Given the description of an element on the screen output the (x, y) to click on. 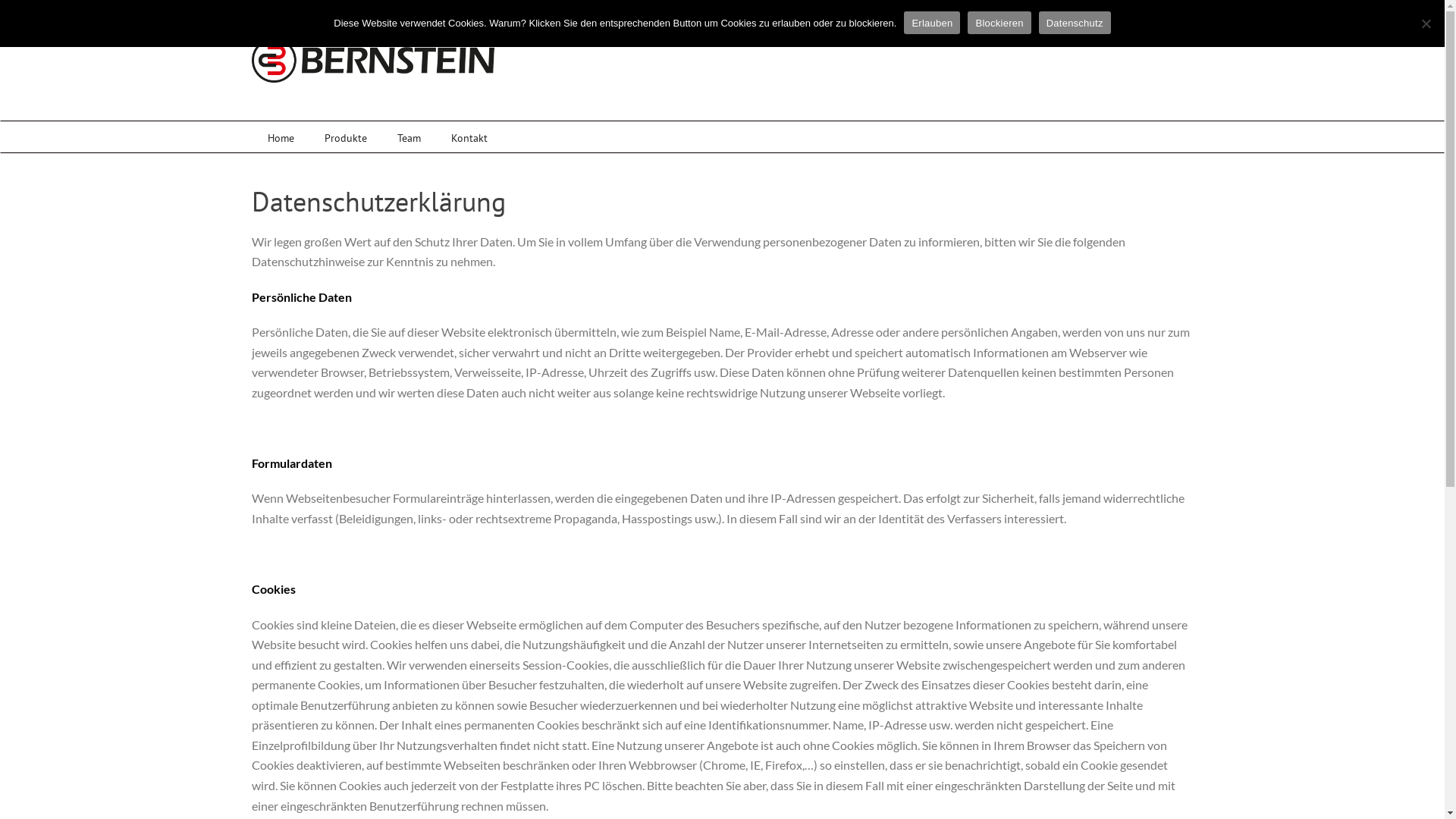
Kontakt Element type: text (469, 137)
Blockieren Element type: hover (1425, 23)
Produkte Element type: text (345, 137)
www.bernstein-schweiz.ch Element type: text (348, 796)
Blockieren Element type: text (998, 22)
AGB Element type: text (423, 796)
Datenschutz Element type: text (525, 796)
Erlauben Element type: text (931, 22)
Team Element type: text (409, 137)
Datenschutz Element type: text (1074, 22)
DE Element type: text (1410, 23)
Home Element type: text (280, 137)
Impressum Element type: text (466, 796)
